Given the description of an element on the screen output the (x, y) to click on. 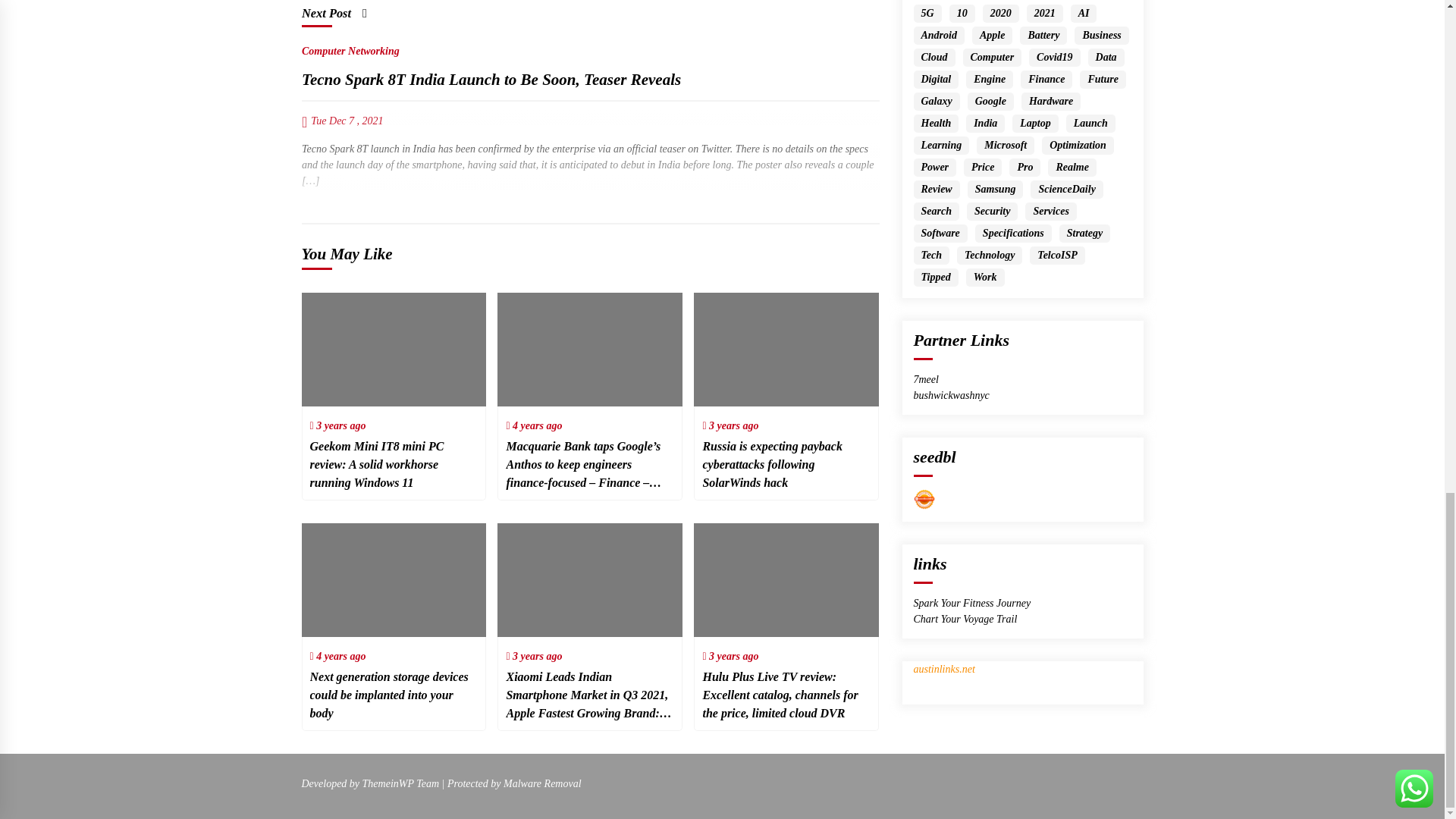
Seedbacklink (923, 499)
